Given the description of an element on the screen output the (x, y) to click on. 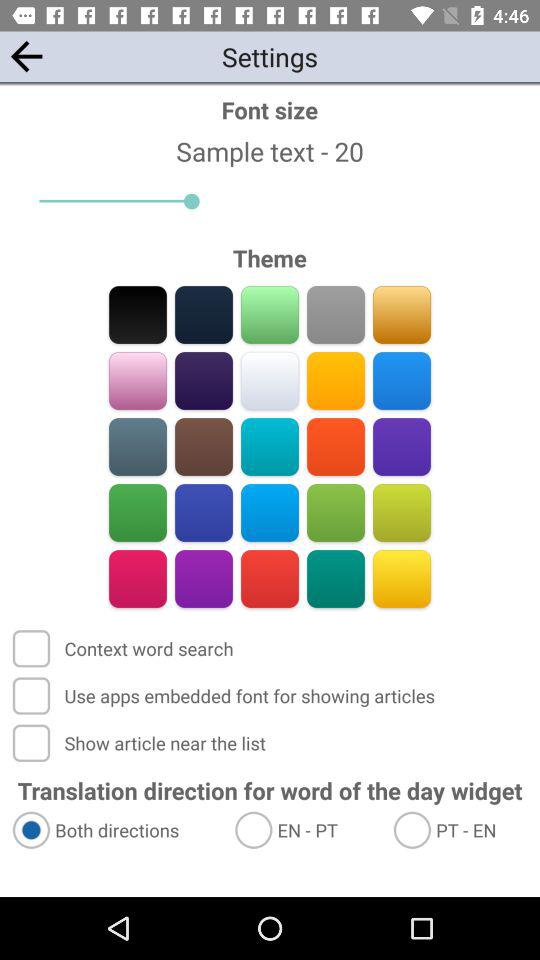
theme color option (203, 512)
